Given the description of an element on the screen output the (x, y) to click on. 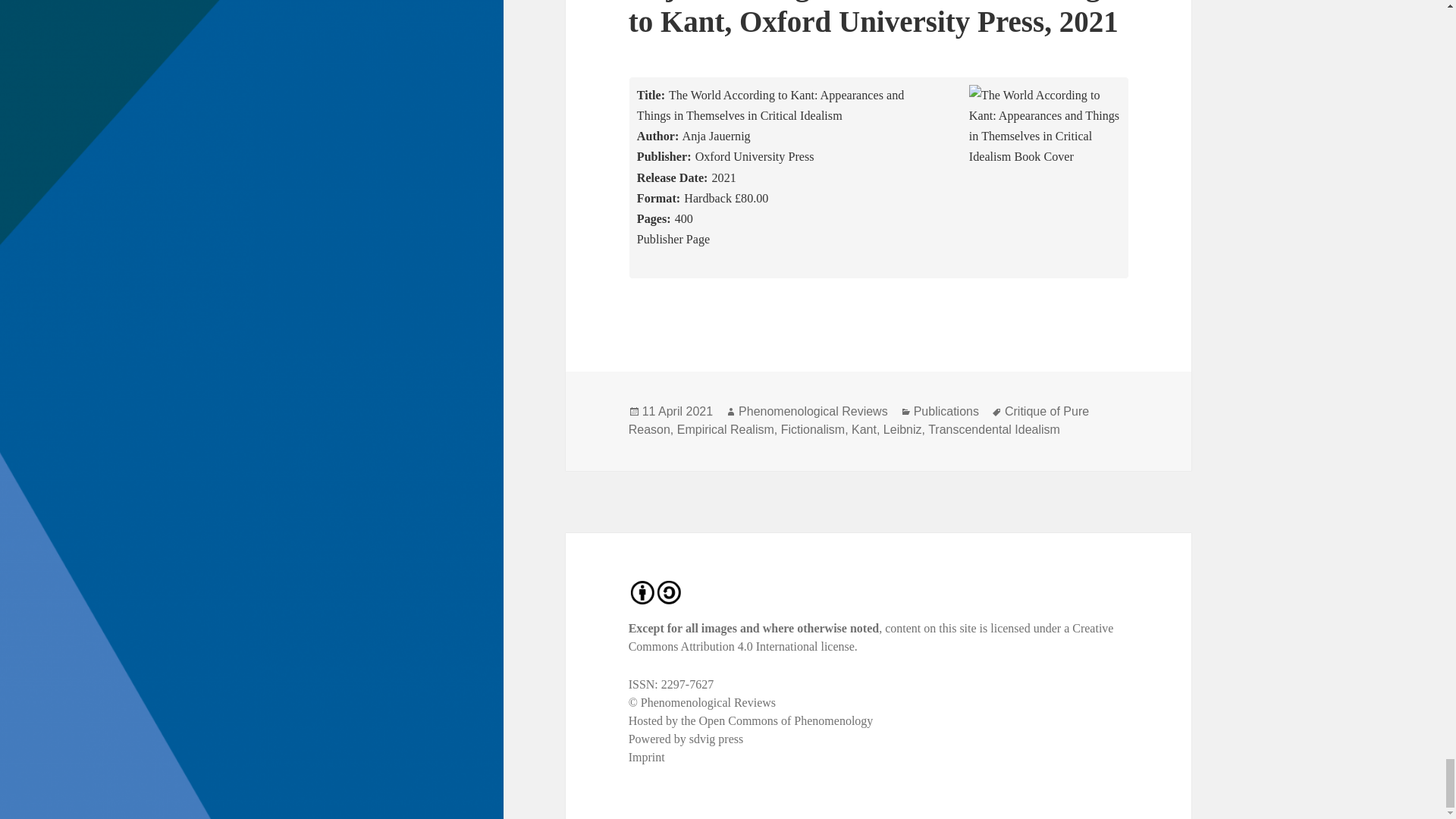
Phenomenological Reviews (813, 410)
11 April 2021 (677, 410)
Publications (946, 410)
Publisher Page (673, 238)
